Given the description of an element on the screen output the (x, y) to click on. 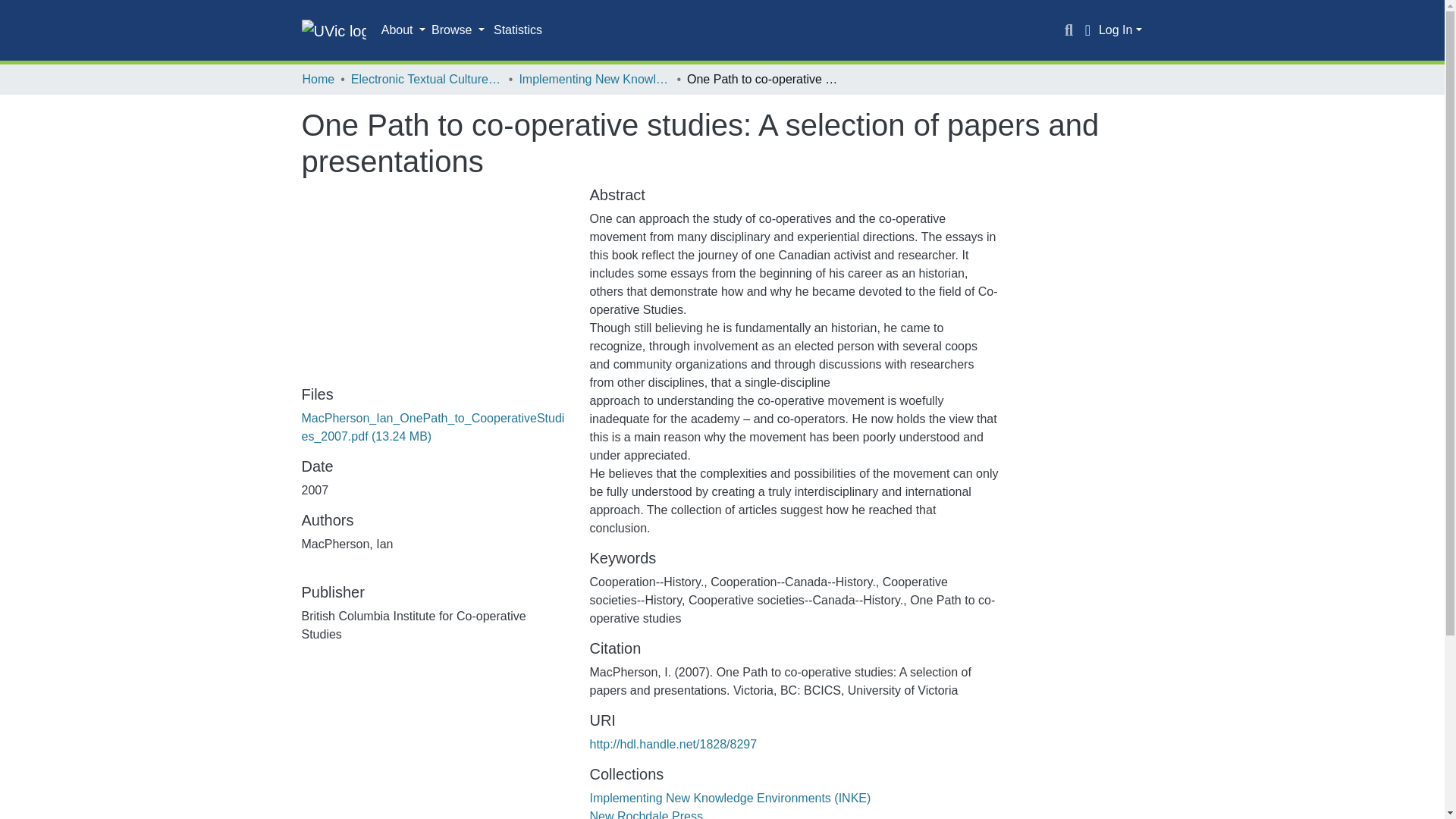
Statistics (517, 30)
Browse (457, 30)
About (403, 30)
Search (1068, 30)
Home (317, 79)
New Rochdale Press (645, 814)
Statistics (517, 30)
Log In (1119, 29)
Language switch (1087, 30)
